Given the description of an element on the screen output the (x, y) to click on. 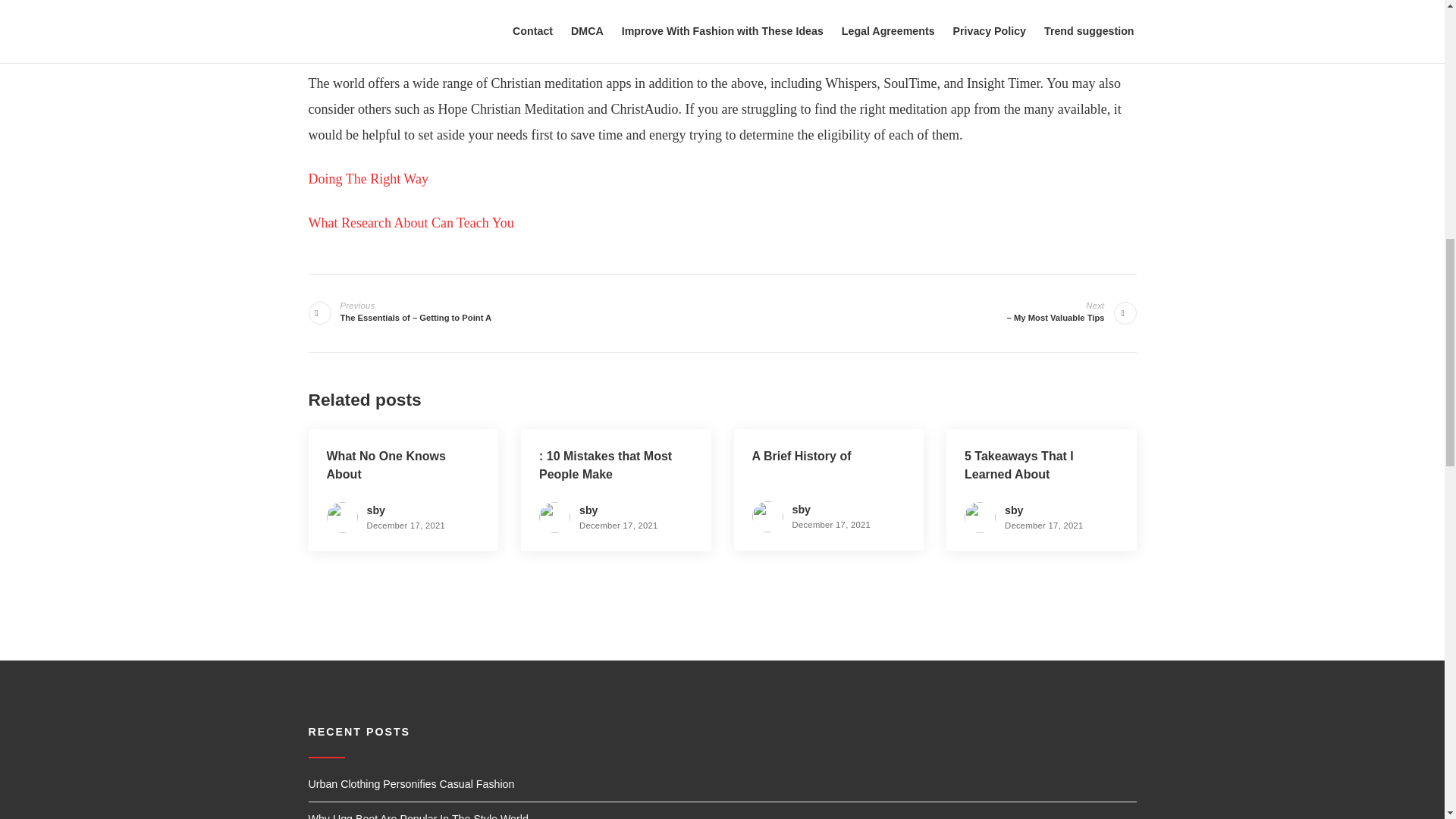
Urban Clothing Personifies Casual Fashion (410, 784)
sby (375, 510)
sby (588, 510)
sby (1013, 510)
What Research About Can Teach You (410, 222)
Doing The Right Way (367, 178)
5 Takeaways That I Learned About (1018, 464)
: 10 Mistakes that Most People Make (604, 464)
Posts by sby (1013, 510)
sby (801, 509)
A Brief History of (801, 455)
Posts by sby (375, 510)
What No One Knows About (385, 464)
Why Ugg Boot Are Popular In The Style World (417, 816)
Posts by sby (801, 509)
